Given the description of an element on the screen output the (x, y) to click on. 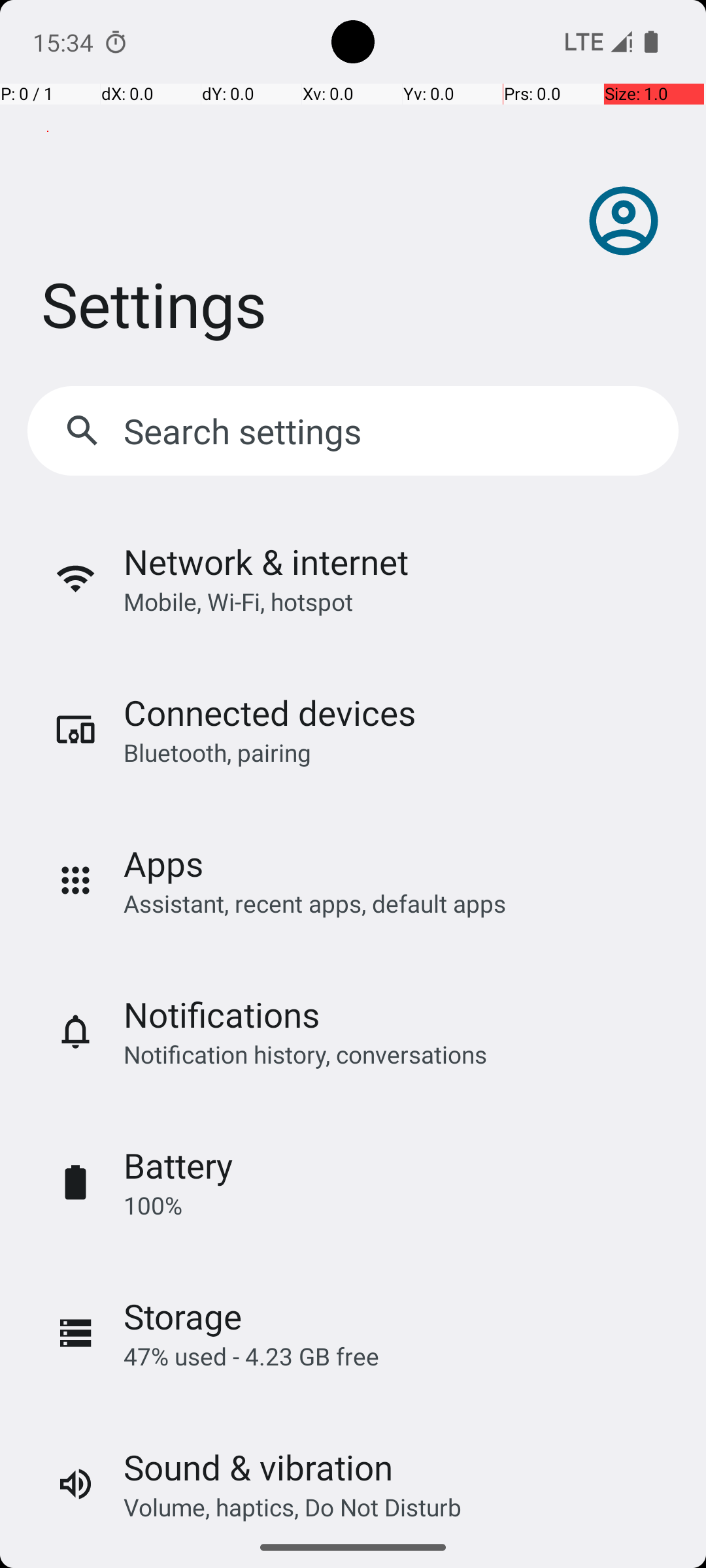
47% used - 4.23 GB free Element type: android.widget.TextView (251, 1355)
